Given the description of an element on the screen output the (x, y) to click on. 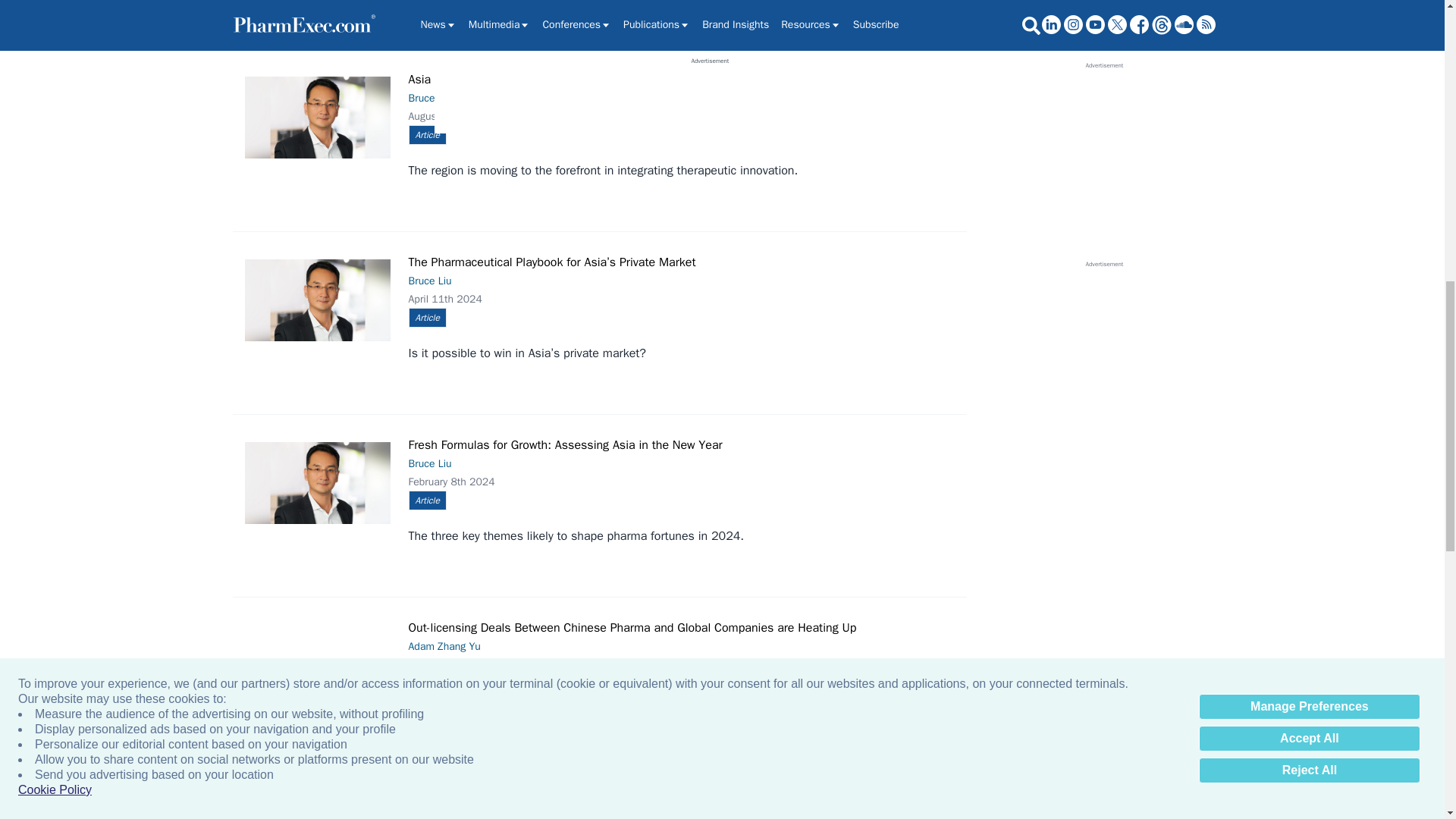
Asia Embracing New Technologies for Better Healthcare (317, 117)
Bruce Liu (317, 483)
Adam Zhang (317, 665)
Professor F. Warren McFarlan, DBA, MBA, AB  (317, 813)
